Given the description of an element on the screen output the (x, y) to click on. 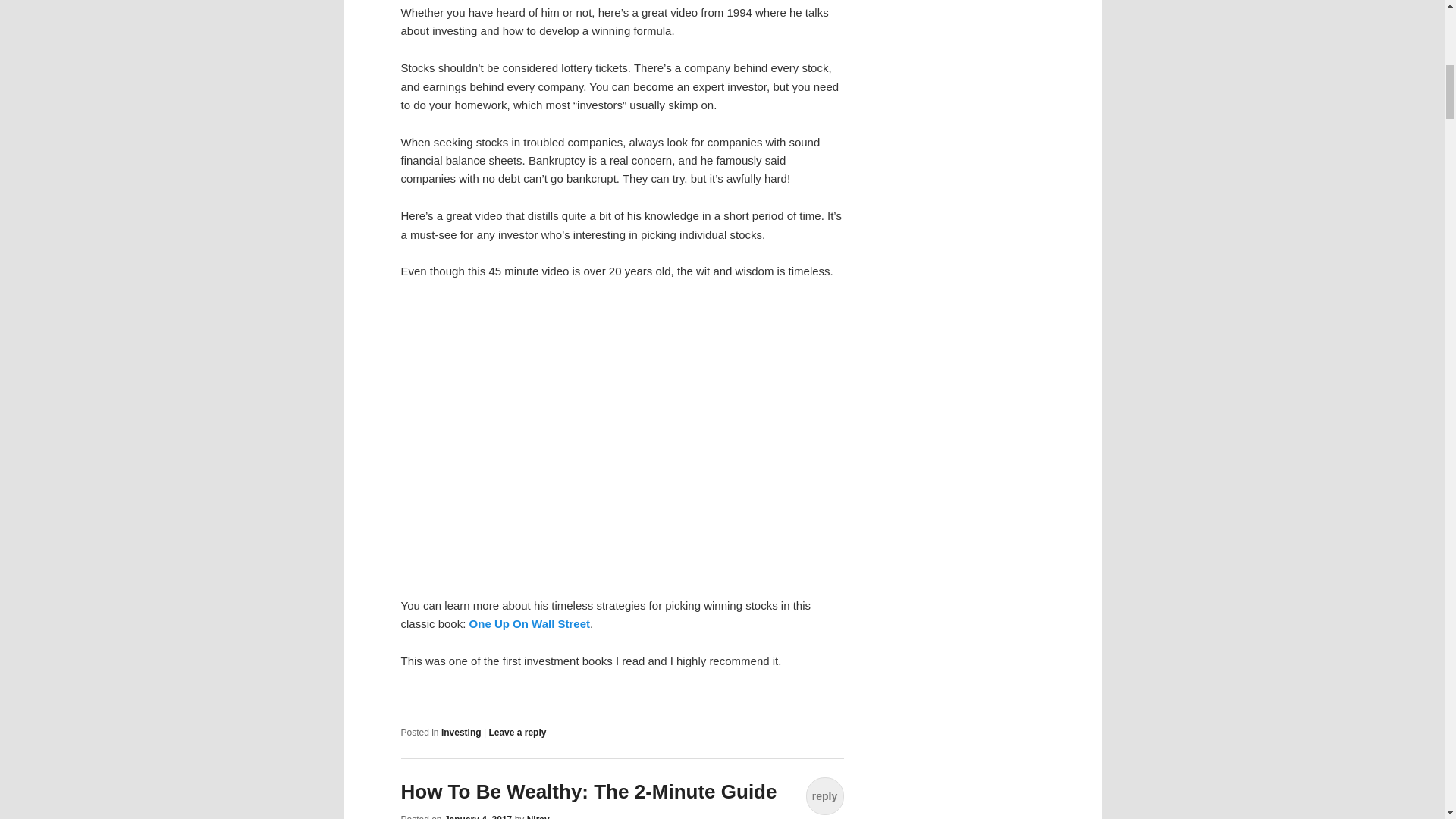
Investing (461, 732)
reply (824, 795)
Leave a reply (516, 732)
View all posts by Nirav (538, 816)
Nirav (538, 816)
How To Be Wealthy: The 2-Minute Guide (588, 791)
One Up On Wall Street (528, 623)
January 4, 2017 (478, 816)
